Given the description of an element on the screen output the (x, y) to click on. 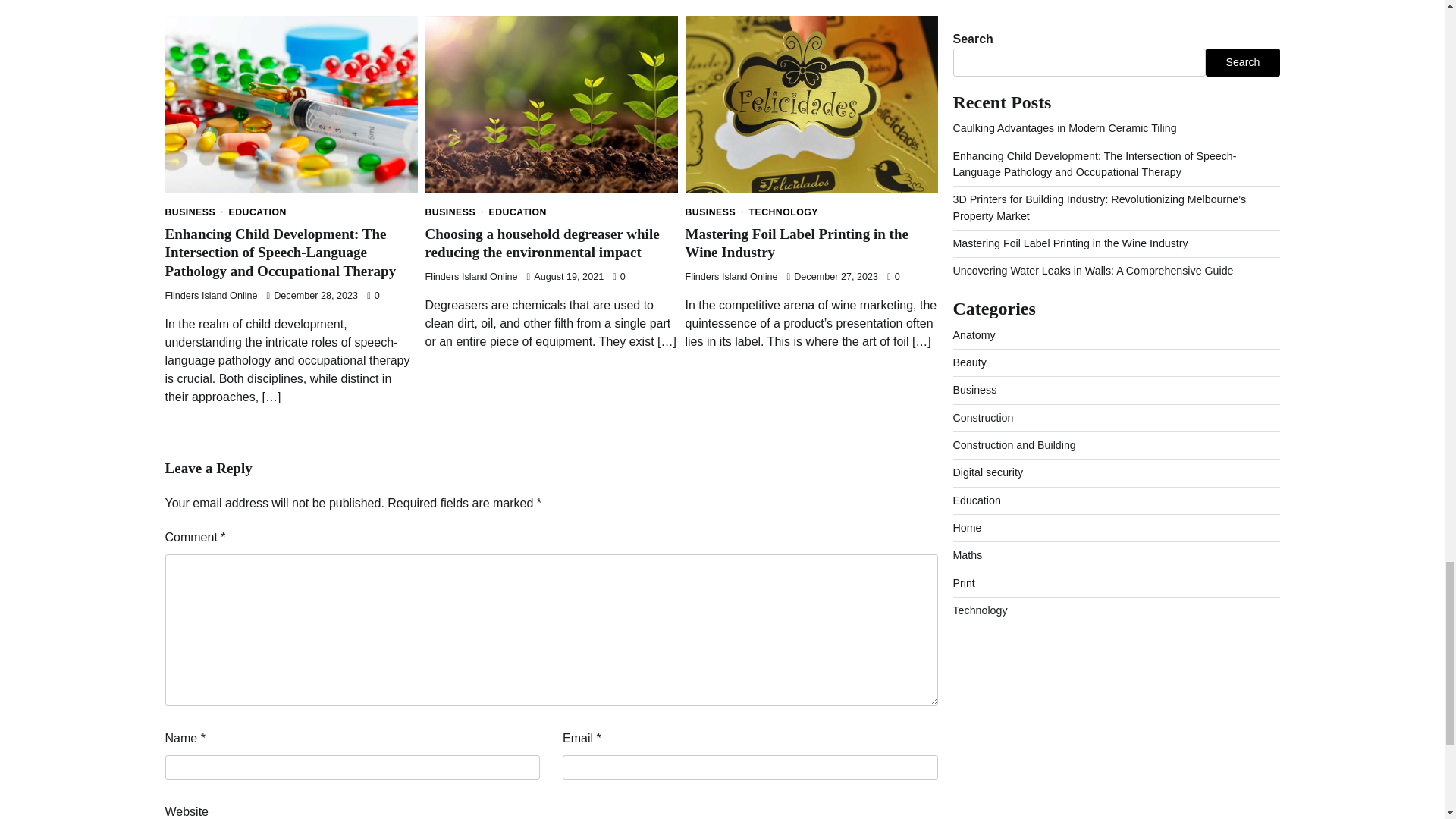
Flinders Island Online (731, 276)
Flinders Island Online (470, 276)
BUSINESS (715, 212)
Flinders Island Online (211, 295)
Mastering Foil Label Printing in the Wine Industry (796, 243)
EDUCATION (518, 212)
EDUCATION (257, 212)
TECHNOLOGY (783, 212)
BUSINESS (195, 212)
BUSINESS (454, 212)
